Given the description of an element on the screen output the (x, y) to click on. 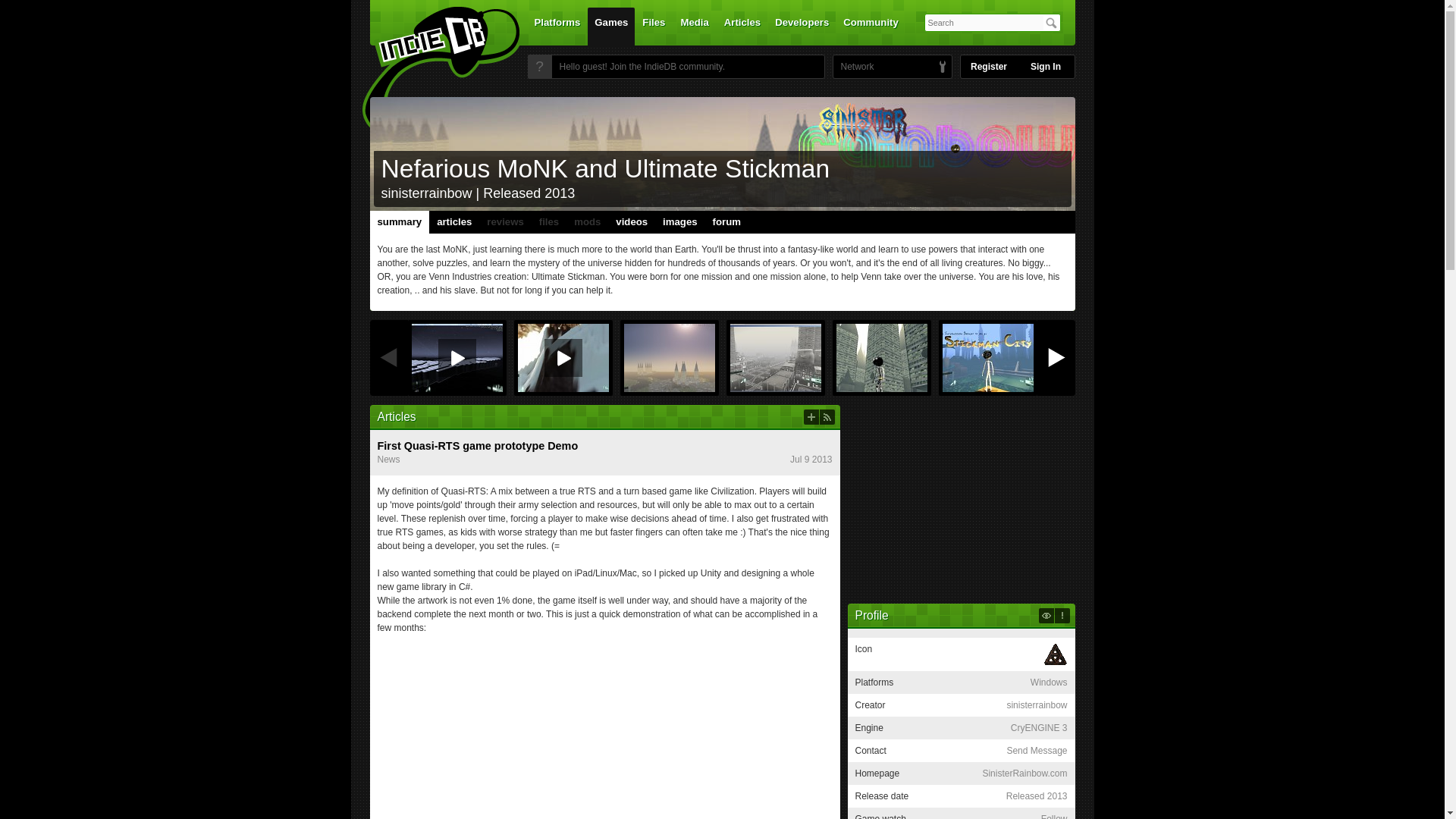
Community (870, 26)
Stickman in a city environment (880, 357)
First Test Mission, Labor Day Project (562, 357)
Search IndieDB (1050, 22)
Home (430, 70)
MineCraft Demo using VLW system (456, 357)
Articles (742, 26)
Platforms (557, 26)
Games (611, 26)
Files (652, 26)
DBolical (852, 66)
Developers (801, 26)
Wide shot of a few of several million miles (668, 357)
Post article (810, 417)
Shot of a city environment with generated roads (775, 357)
